Given the description of an element on the screen output the (x, y) to click on. 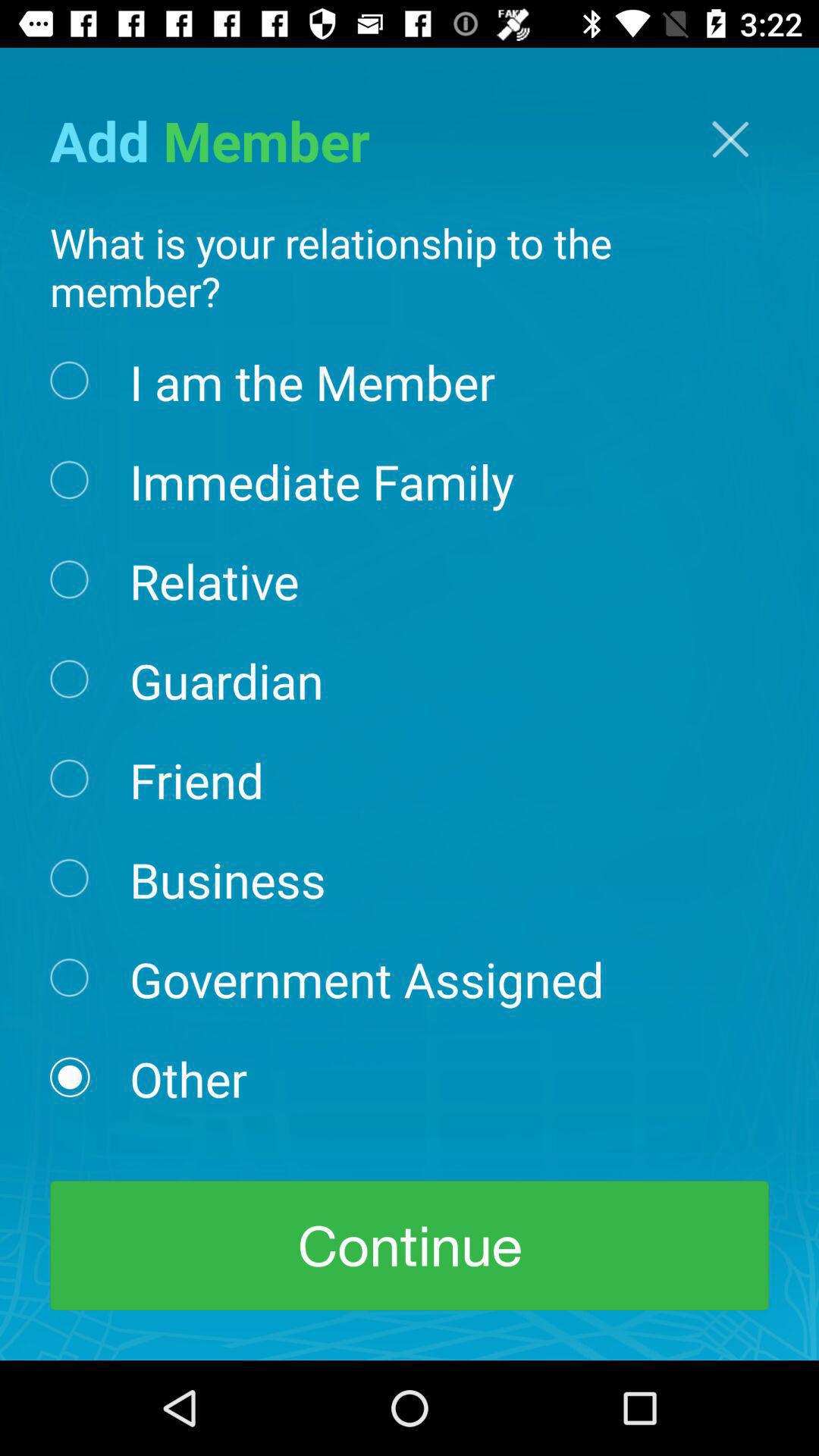
press the icon above relative icon (321, 480)
